Given the description of an element on the screen output the (x, y) to click on. 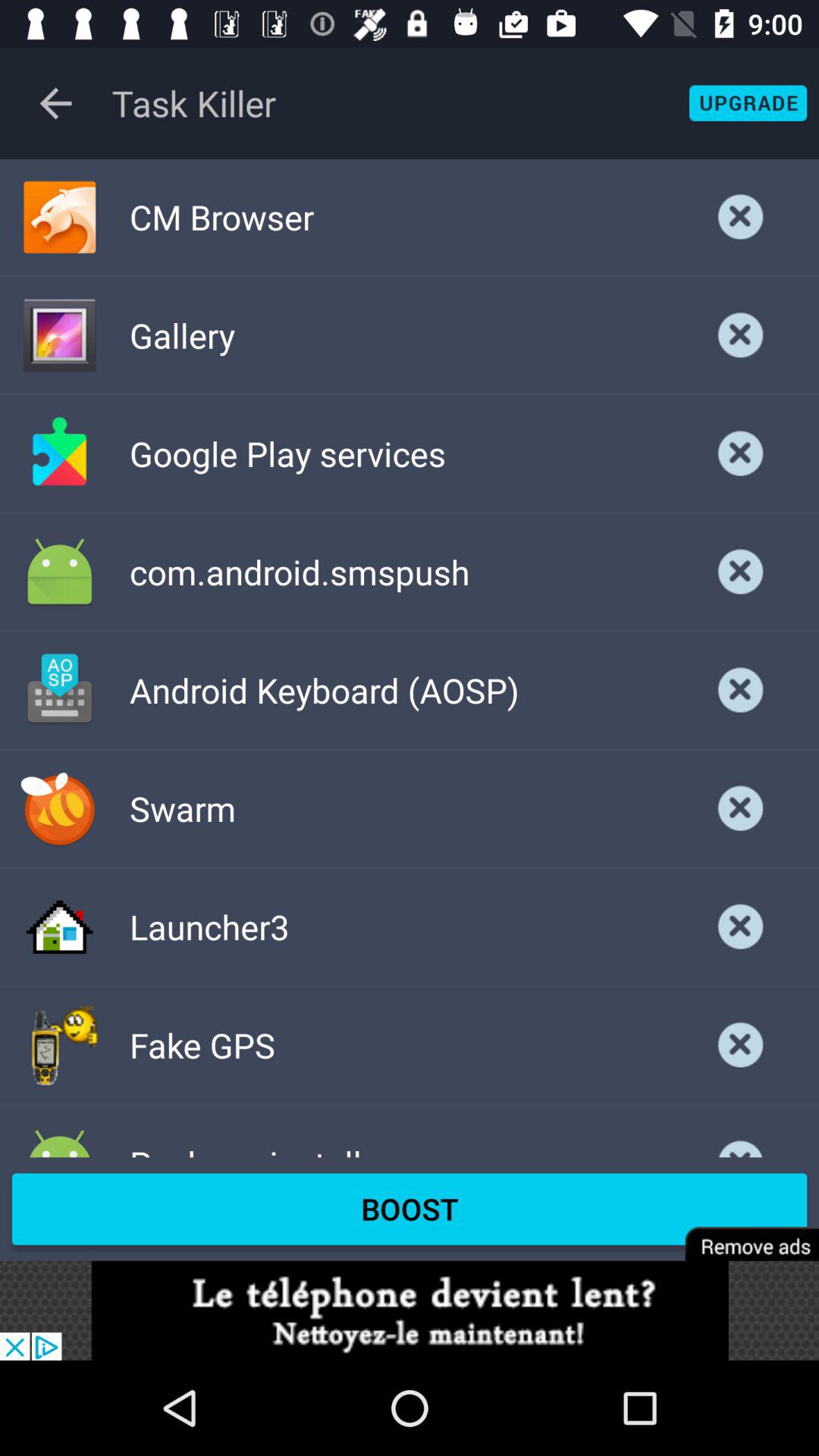
close task (740, 690)
